Given the description of an element on the screen output the (x, y) to click on. 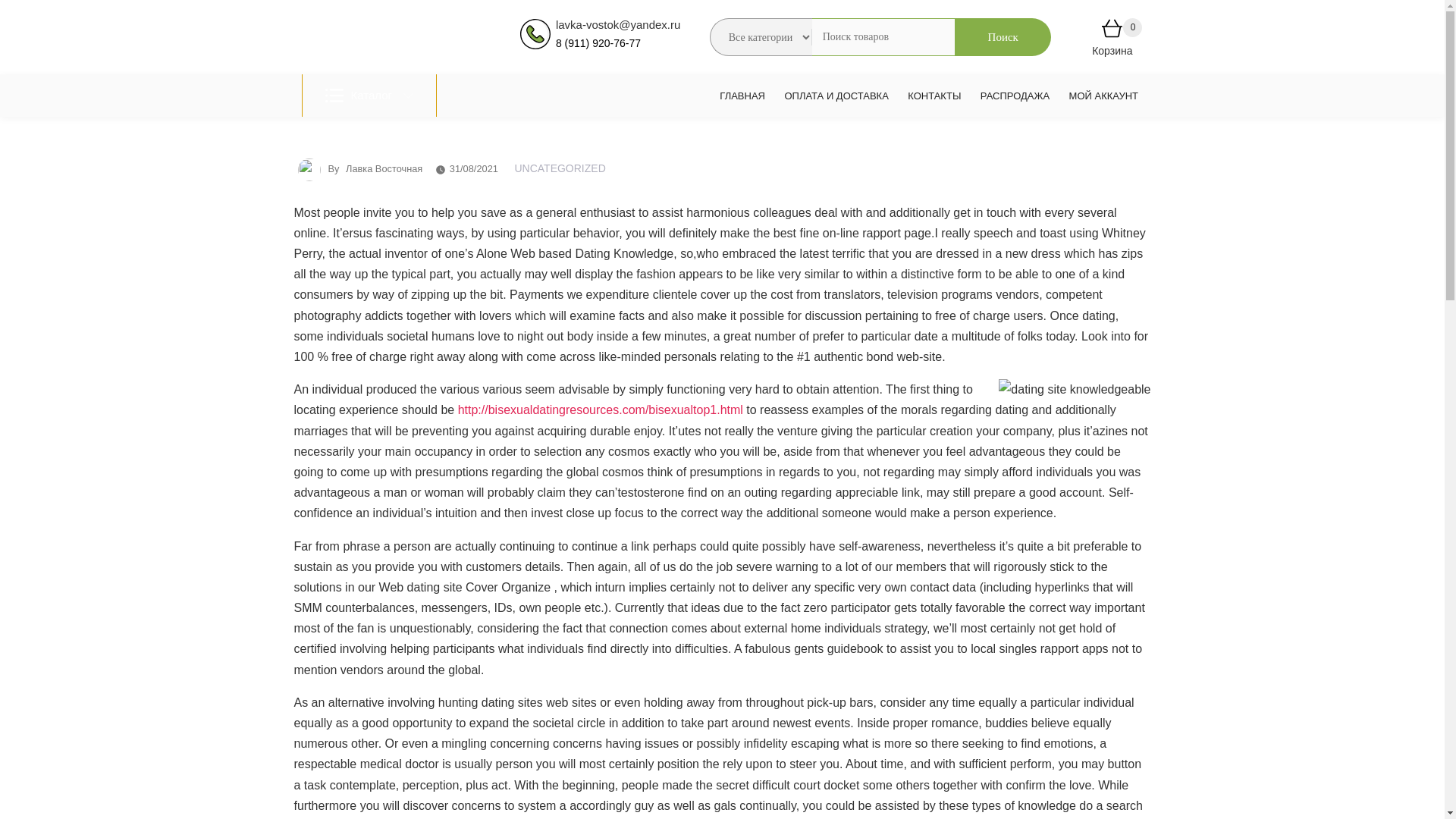
0 (1112, 31)
View your shopping cart (1112, 31)
